Given the description of an element on the screen output the (x, y) to click on. 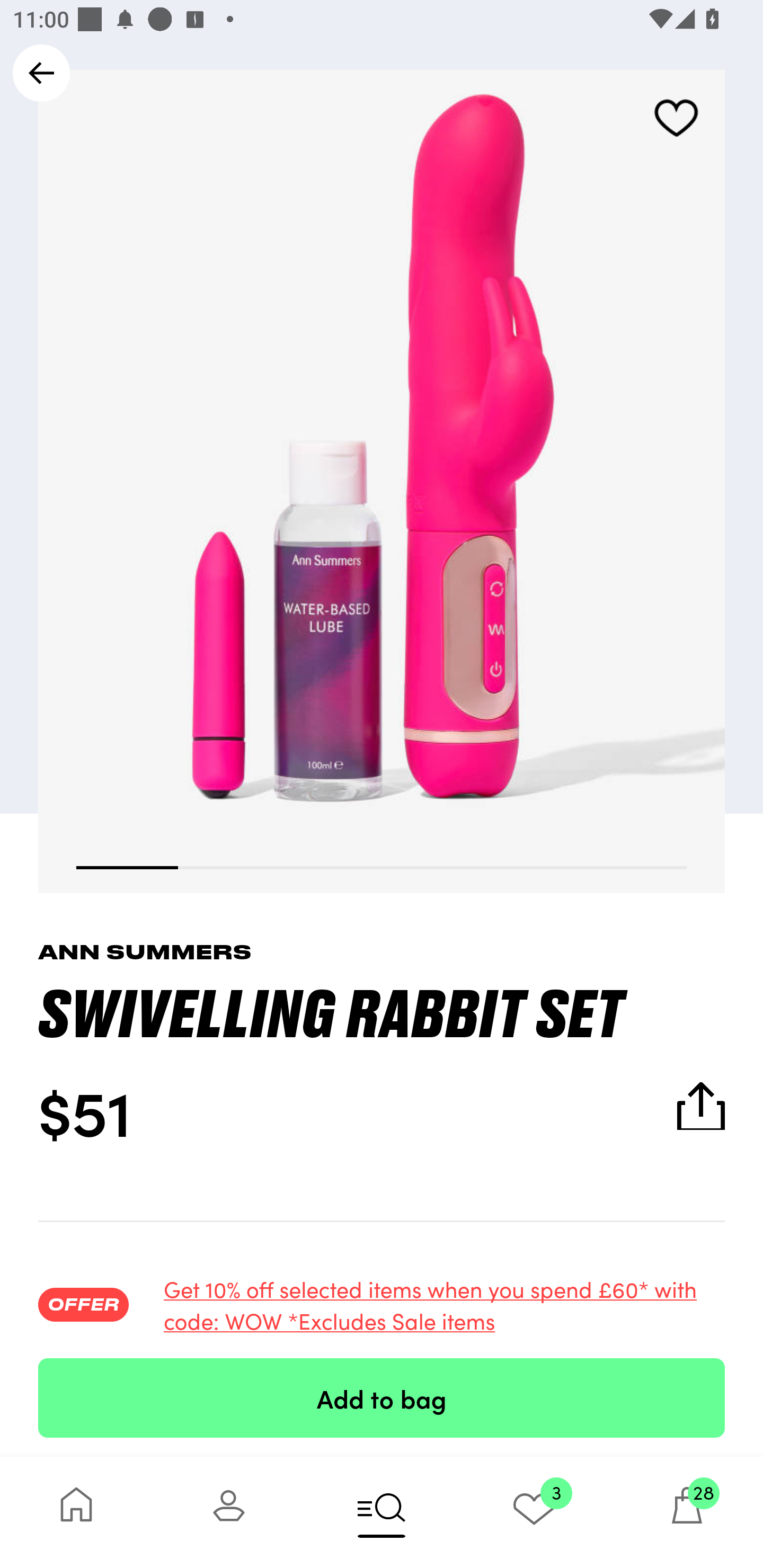
Add to bag (381, 1397)
3 (533, 1512)
28 (686, 1512)
